Given the description of an element on the screen output the (x, y) to click on. 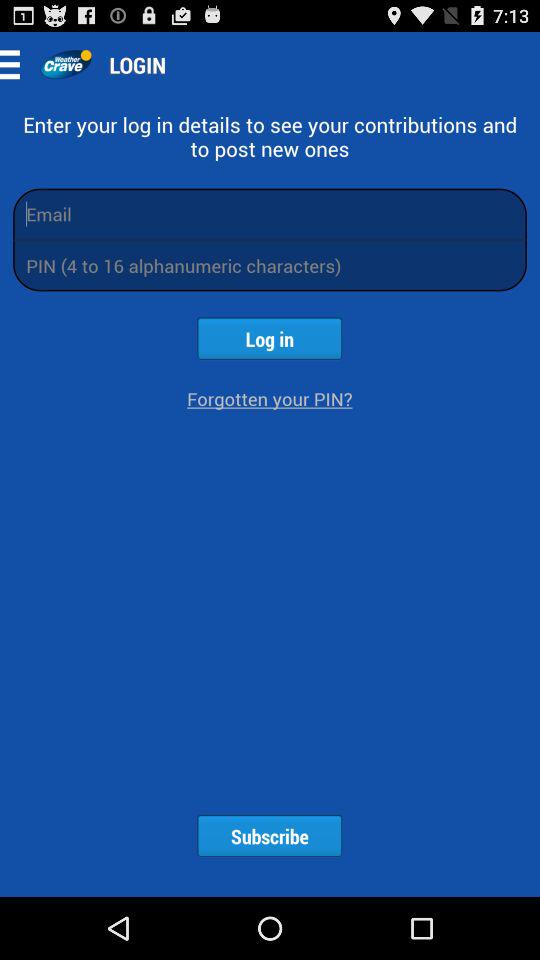
enter email address to login (269, 213)
